Given the description of an element on the screen output the (x, y) to click on. 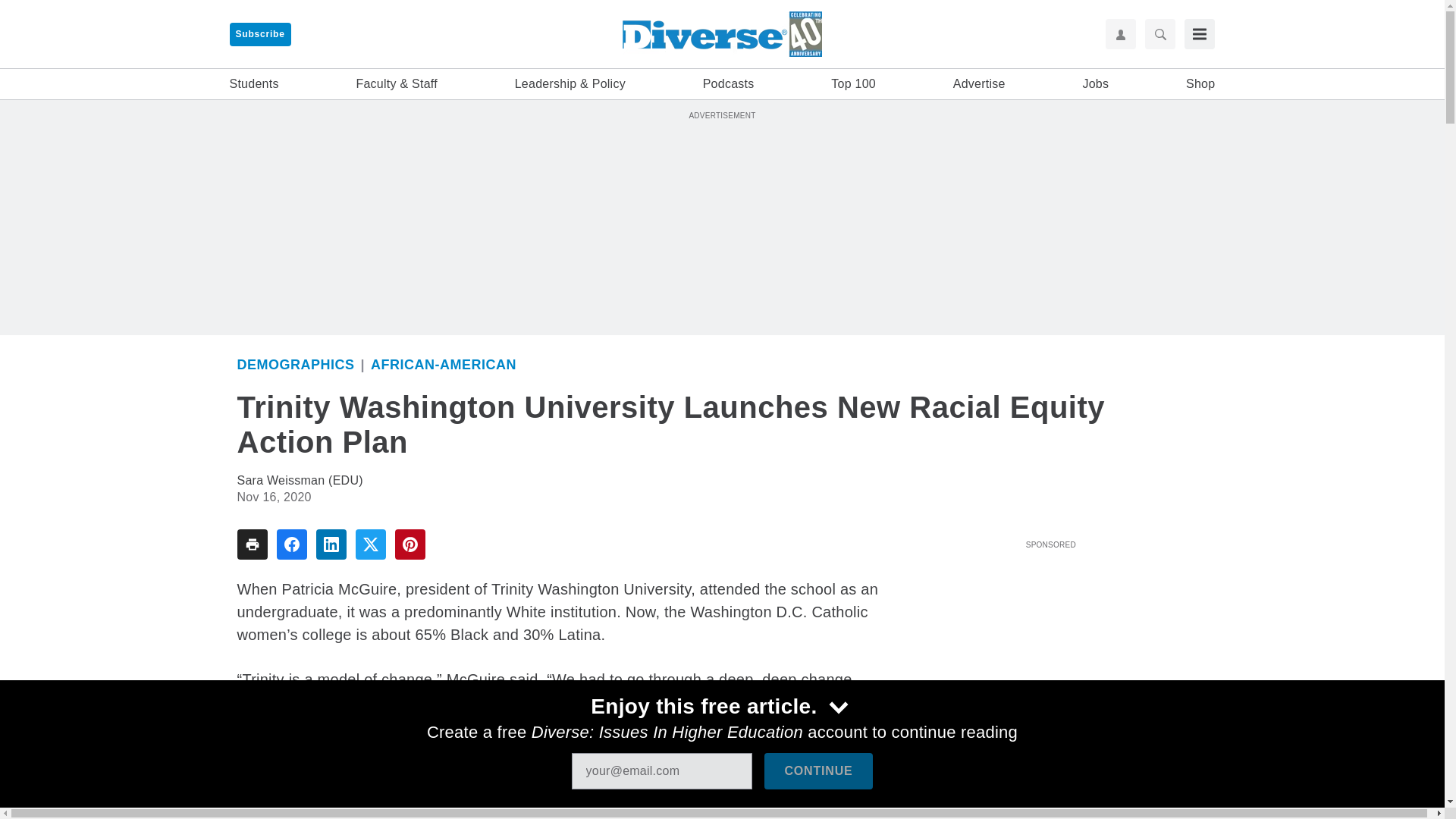
Top 100 (853, 84)
Share To print (250, 544)
Shop (1200, 84)
Subscribe (258, 33)
Share To linkedin (330, 544)
Podcasts (728, 84)
Demographics (294, 364)
African-American (443, 364)
Share To facebook (290, 544)
Advertise (979, 84)
Jobs (1094, 84)
Share To pinterest (409, 544)
Students (253, 84)
Share To twitter (370, 544)
Subscribe (258, 33)
